Given the description of an element on the screen output the (x, y) to click on. 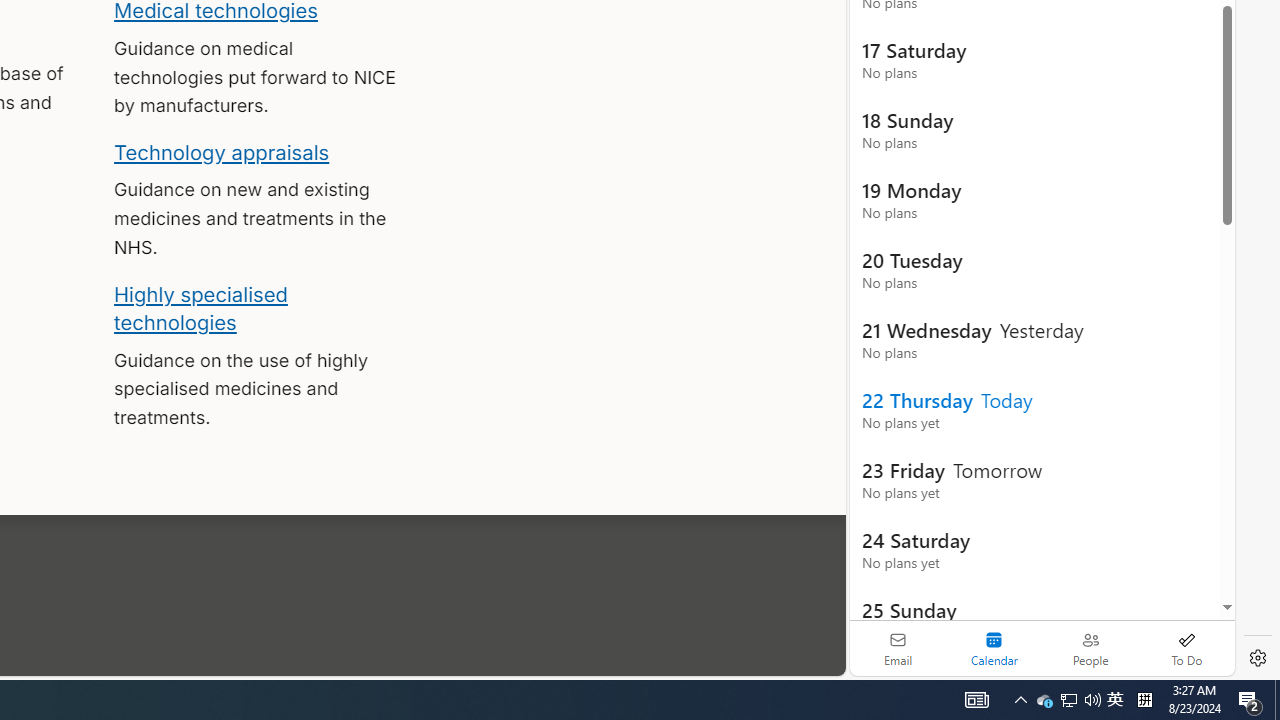
Email (898, 648)
People (1090, 648)
Selected calendar module. Date today is 22 (994, 648)
To Do (1186, 648)
Technology appraisals (221, 152)
Highly specialised technologies (200, 308)
